Given the description of an element on the screen output the (x, y) to click on. 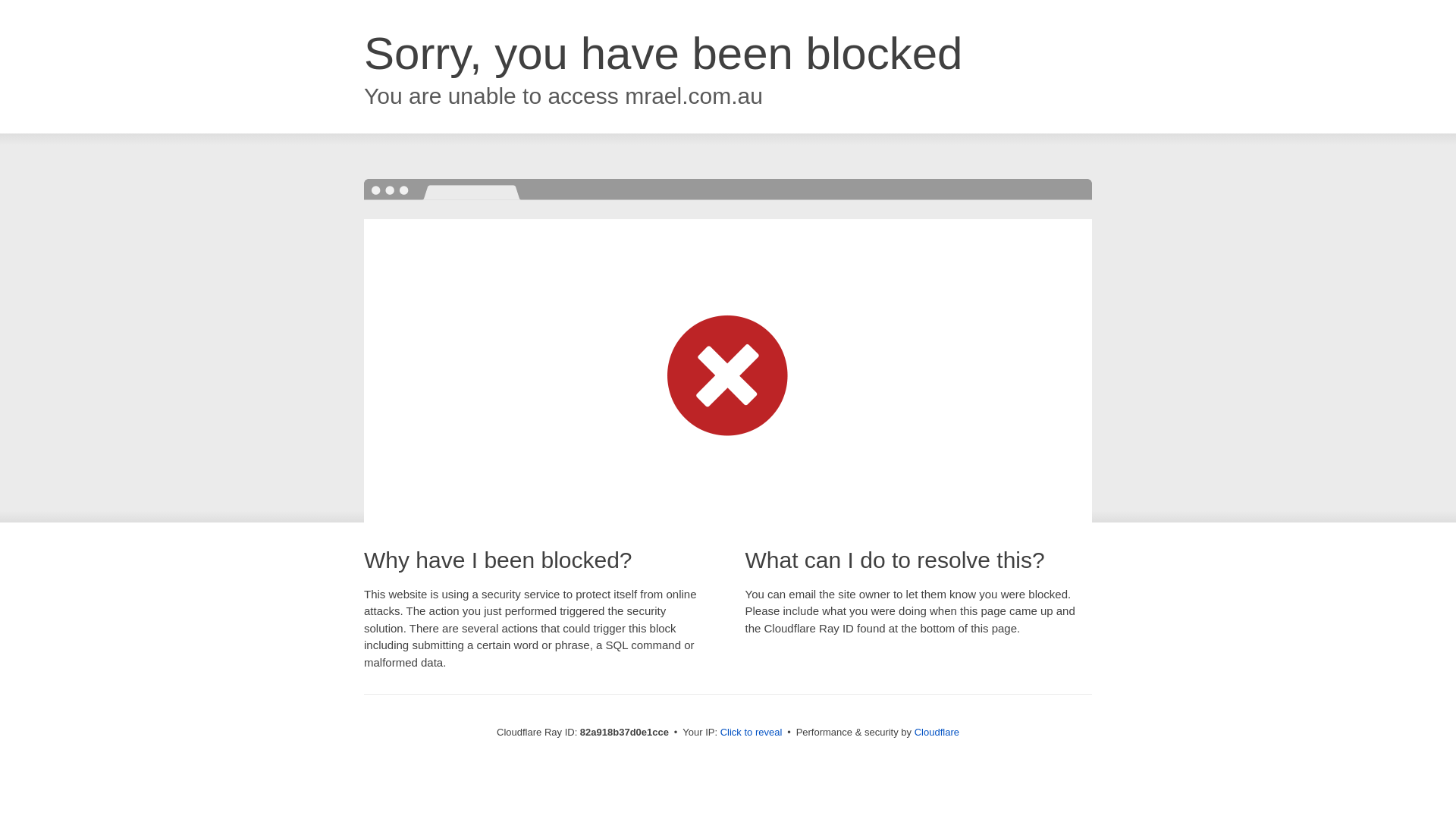
Cloudflare Element type: text (936, 731)
Click to reveal Element type: text (751, 732)
